Given the description of an element on the screen output the (x, y) to click on. 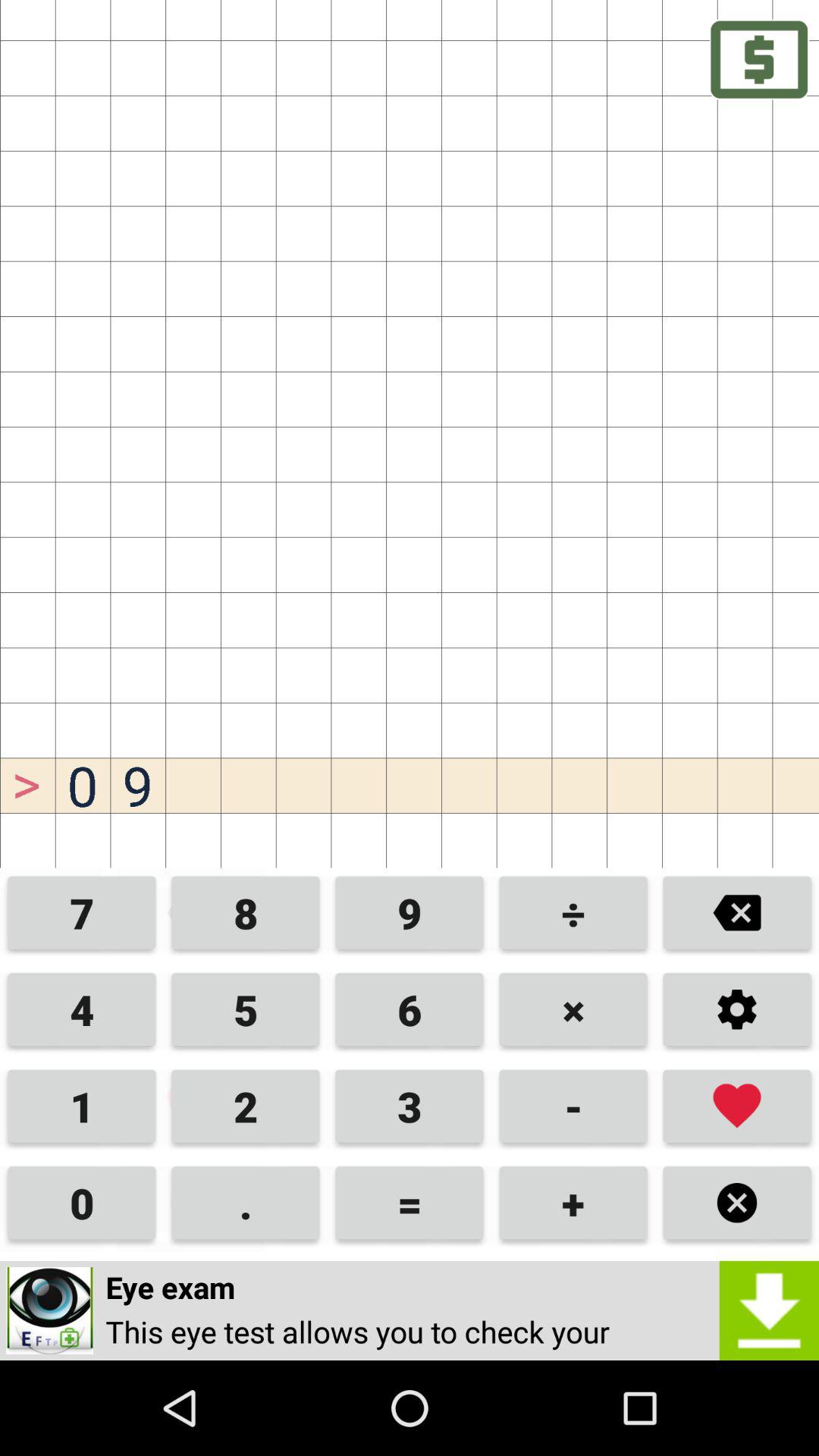
erase button (737, 914)
